Given the description of an element on the screen output the (x, y) to click on. 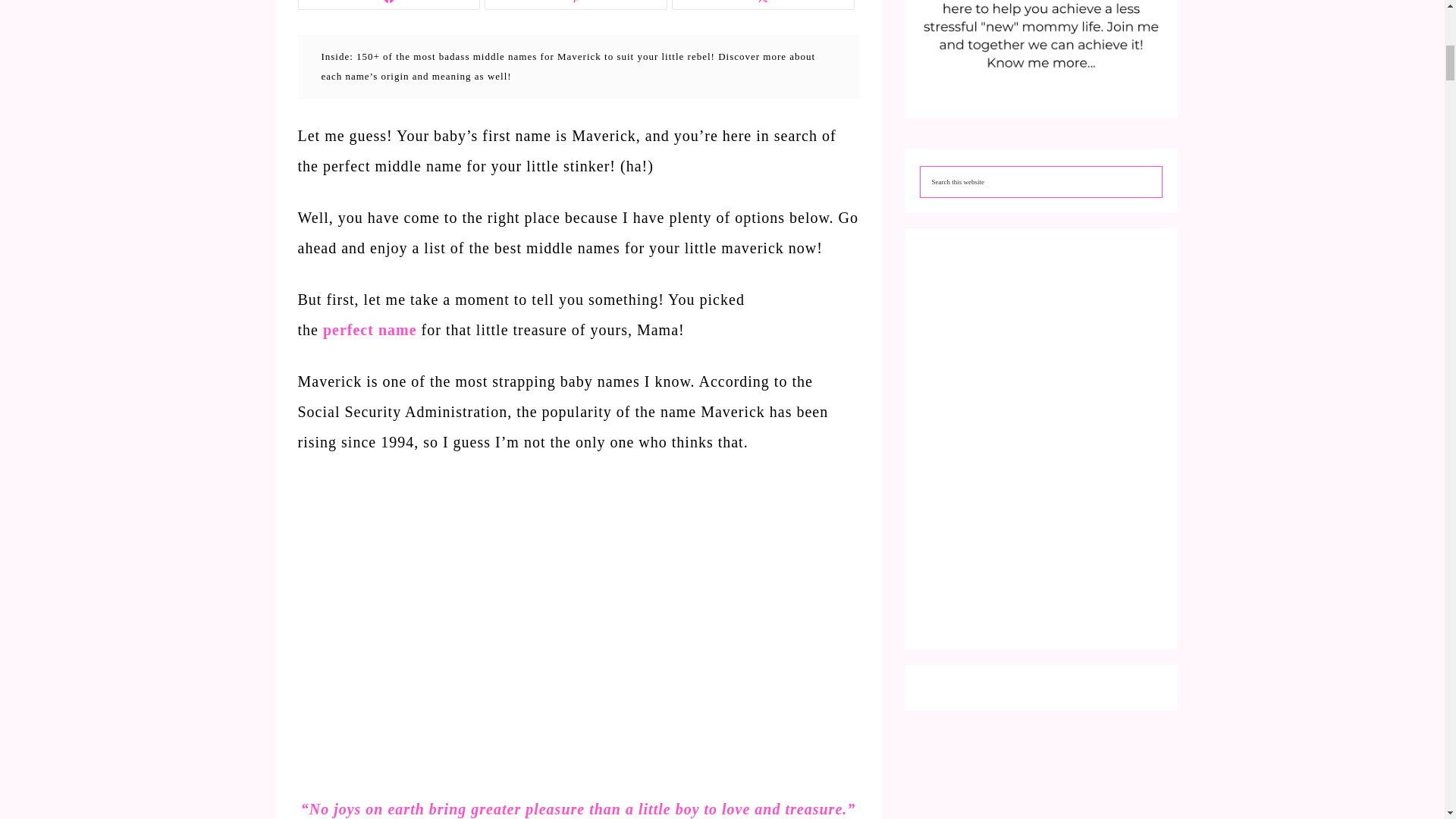
perfect name (369, 329)
